Given the description of an element on the screen output the (x, y) to click on. 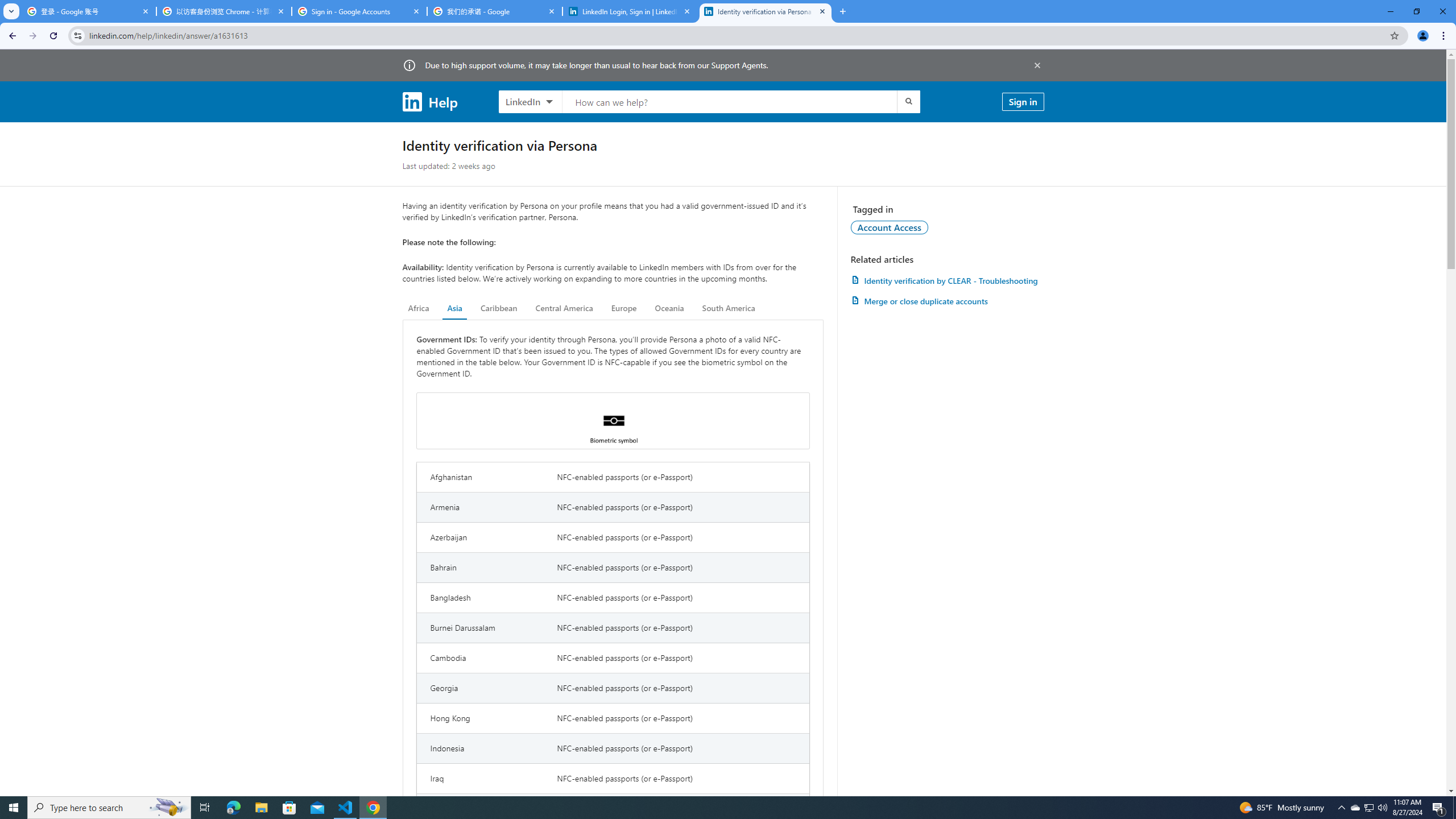
Identity verification via Persona | LinkedIn Help (765, 11)
Merge or close duplicate accounts (946, 300)
Account Access (889, 227)
Sign in - Google Accounts (359, 11)
Oceania (668, 308)
Central America (563, 308)
AutomationID: article-link-a1337200 (946, 300)
Identity verification by CLEAR - Troubleshooting (946, 280)
